Given the description of an element on the screen output the (x, y) to click on. 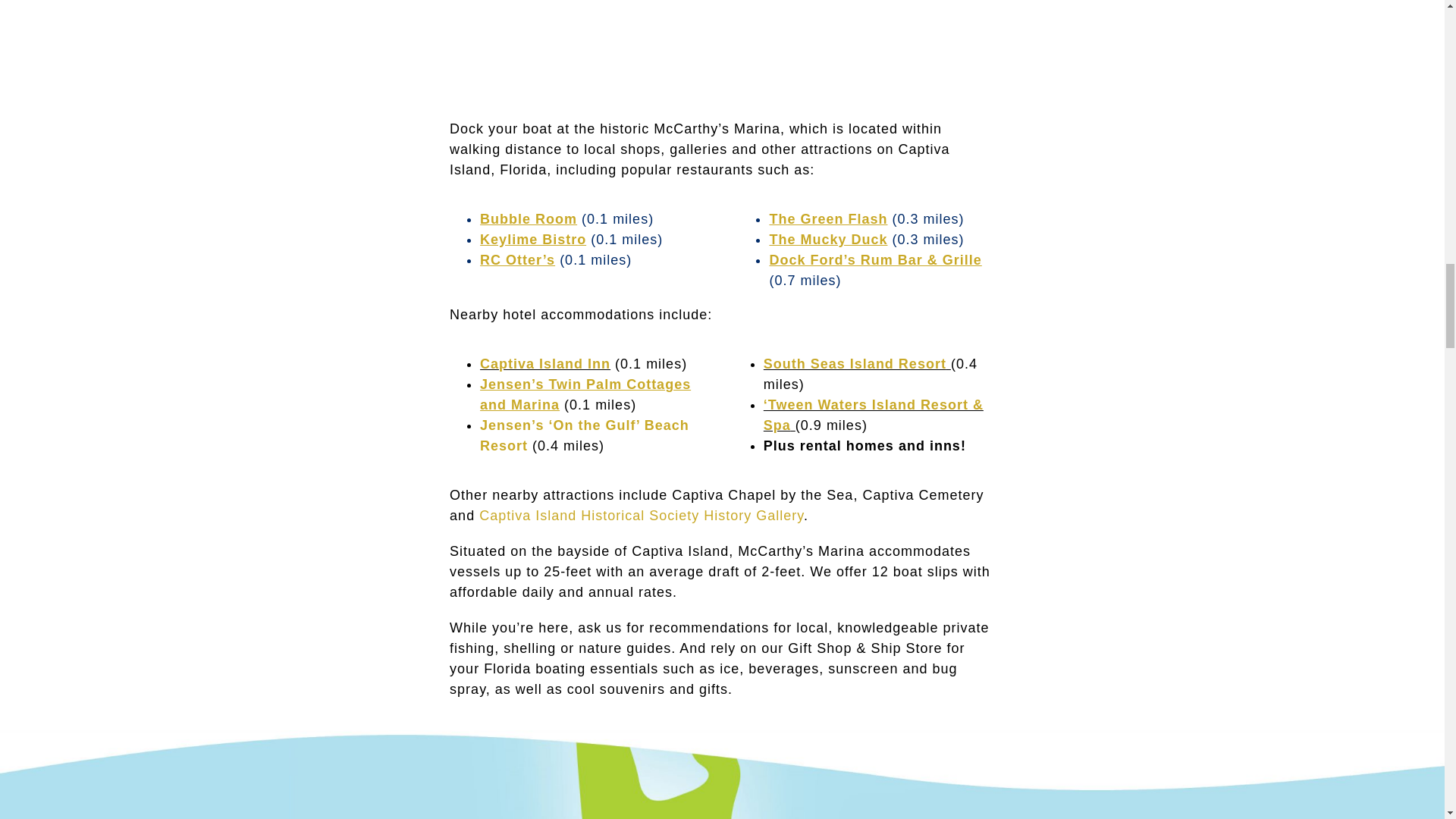
Bubble Room (528, 218)
South Seas Island Resort (854, 363)
Captiva Island Inn (545, 363)
The Green Flash (827, 218)
The Mucky Duck (827, 239)
Keylime Bistro (533, 239)
